Given the description of an element on the screen output the (x, y) to click on. 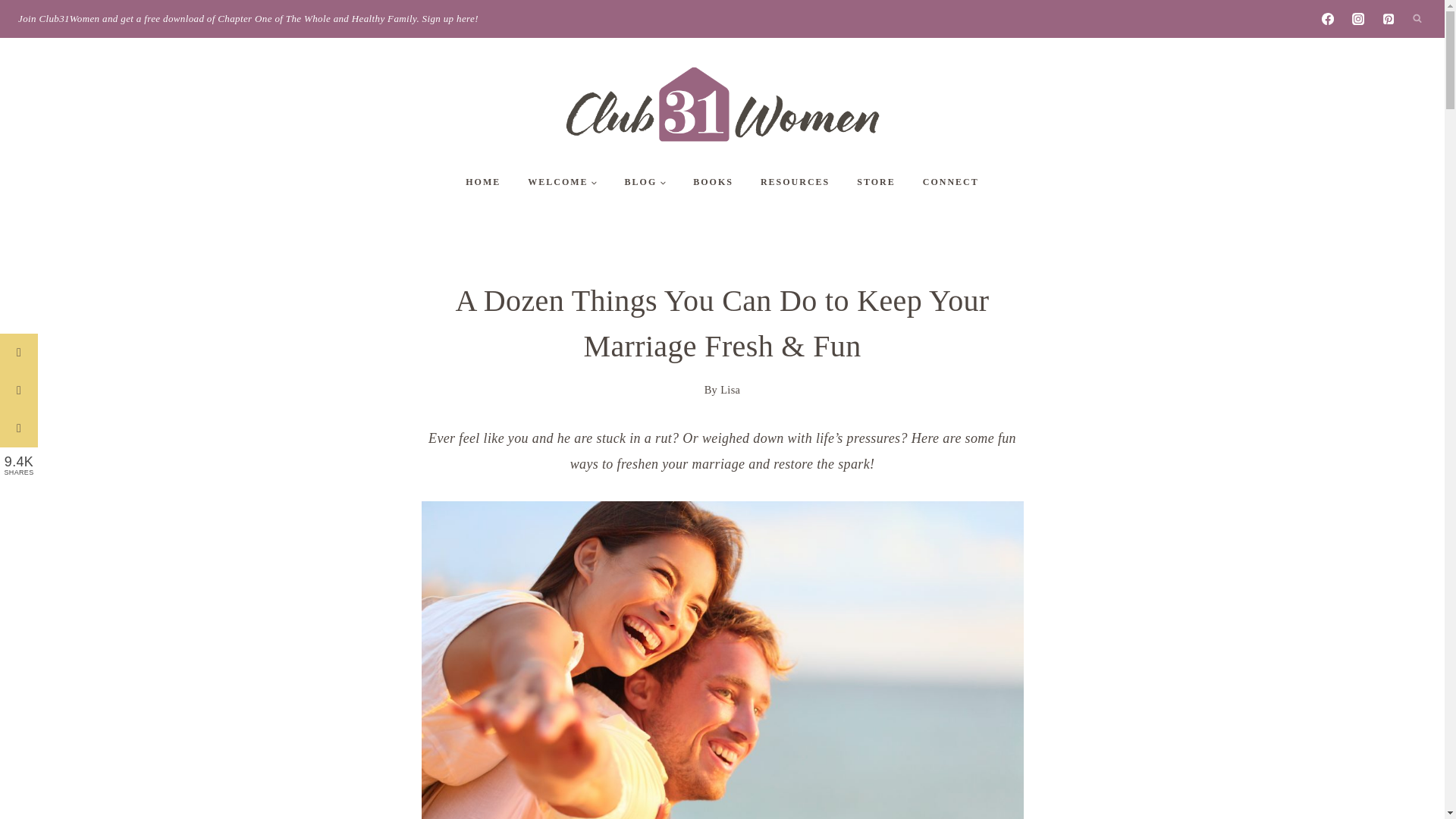
BLOG (645, 181)
BOOKS (712, 181)
Posts by Lisa (729, 390)
RESOURCES (794, 181)
Lisa (729, 390)
WELCOME (561, 181)
STORE (875, 181)
CONNECT (950, 181)
HOME (482, 181)
